Given the description of an element on the screen output the (x, y) to click on. 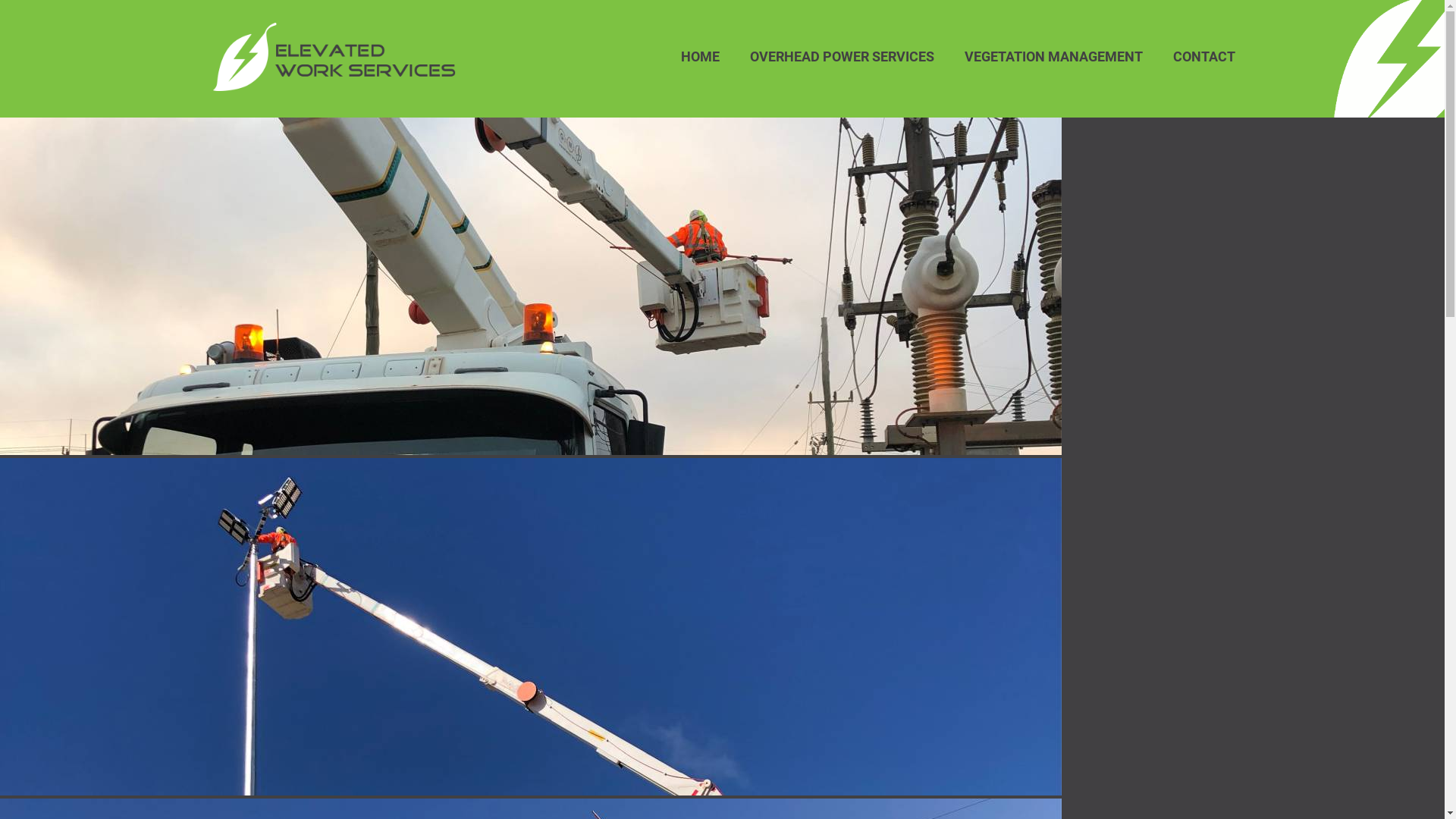
VEGETATION MANAGEMENT Element type: text (1053, 56)
CONTACT Element type: text (1203, 56)
OVERHEAD POWER SERVICES Element type: text (841, 56)
HOME Element type: text (699, 56)
